Given the description of an element on the screen output the (x, y) to click on. 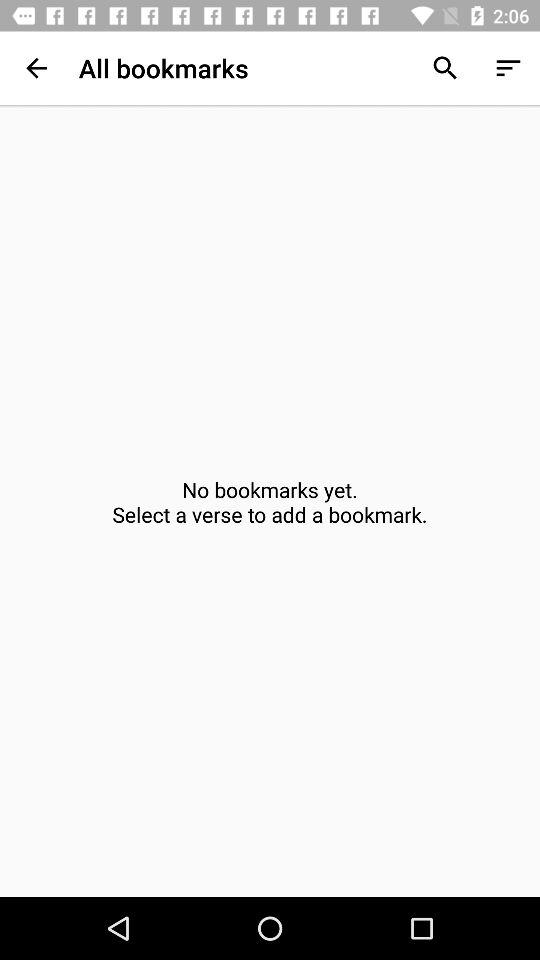
click item next to the all bookmarks item (444, 67)
